Given the description of an element on the screen output the (x, y) to click on. 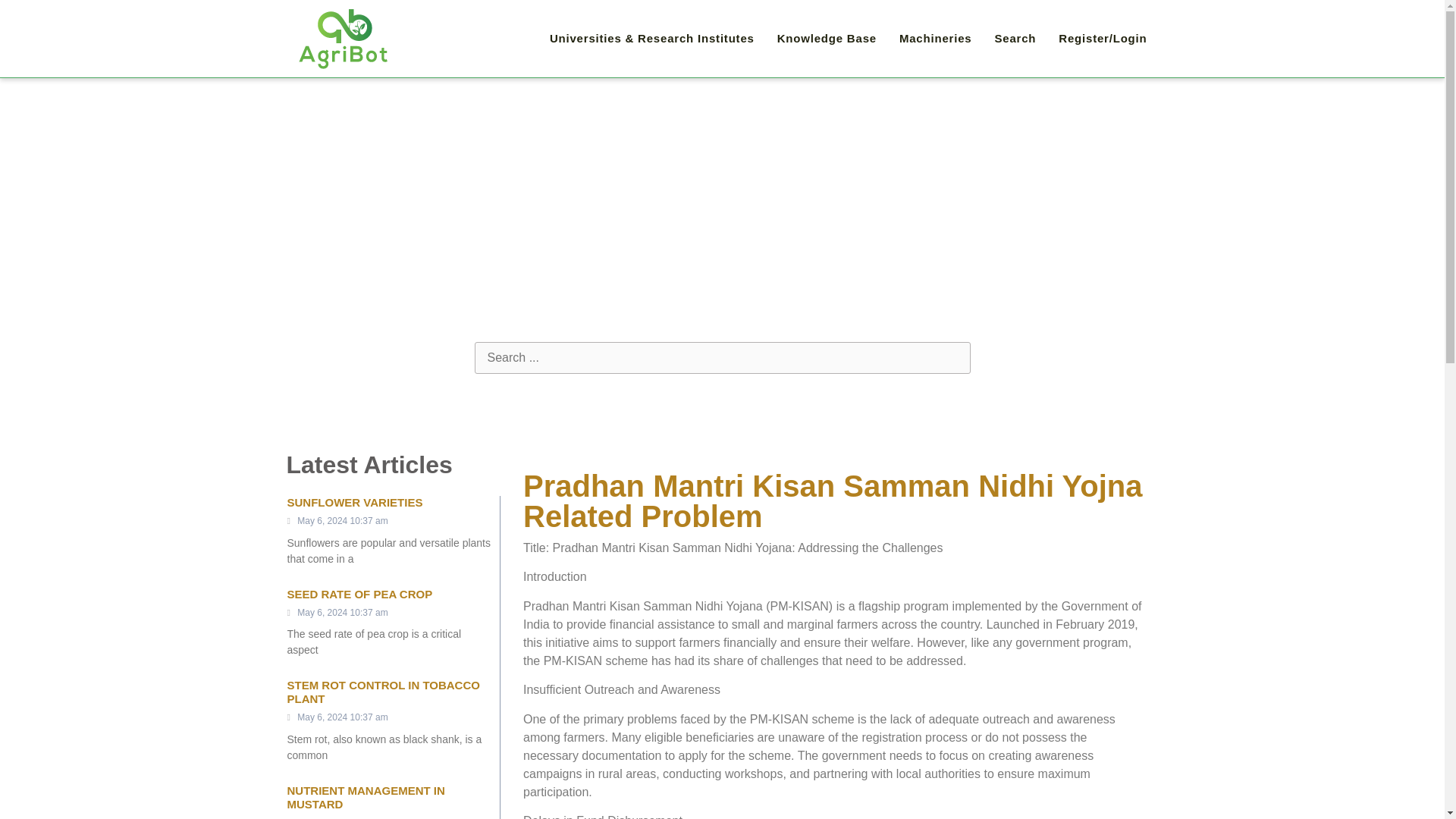
Knowledge Base (826, 38)
Machineries (935, 38)
STEM ROT CONTROL IN TOBACCO PLANT (382, 691)
SEED RATE OF PEA CROP (359, 594)
NUTRIENT MANAGEMENT IN MUSTARD (365, 796)
SUNFLOWER VARIETIES (354, 502)
